Given the description of an element on the screen output the (x, y) to click on. 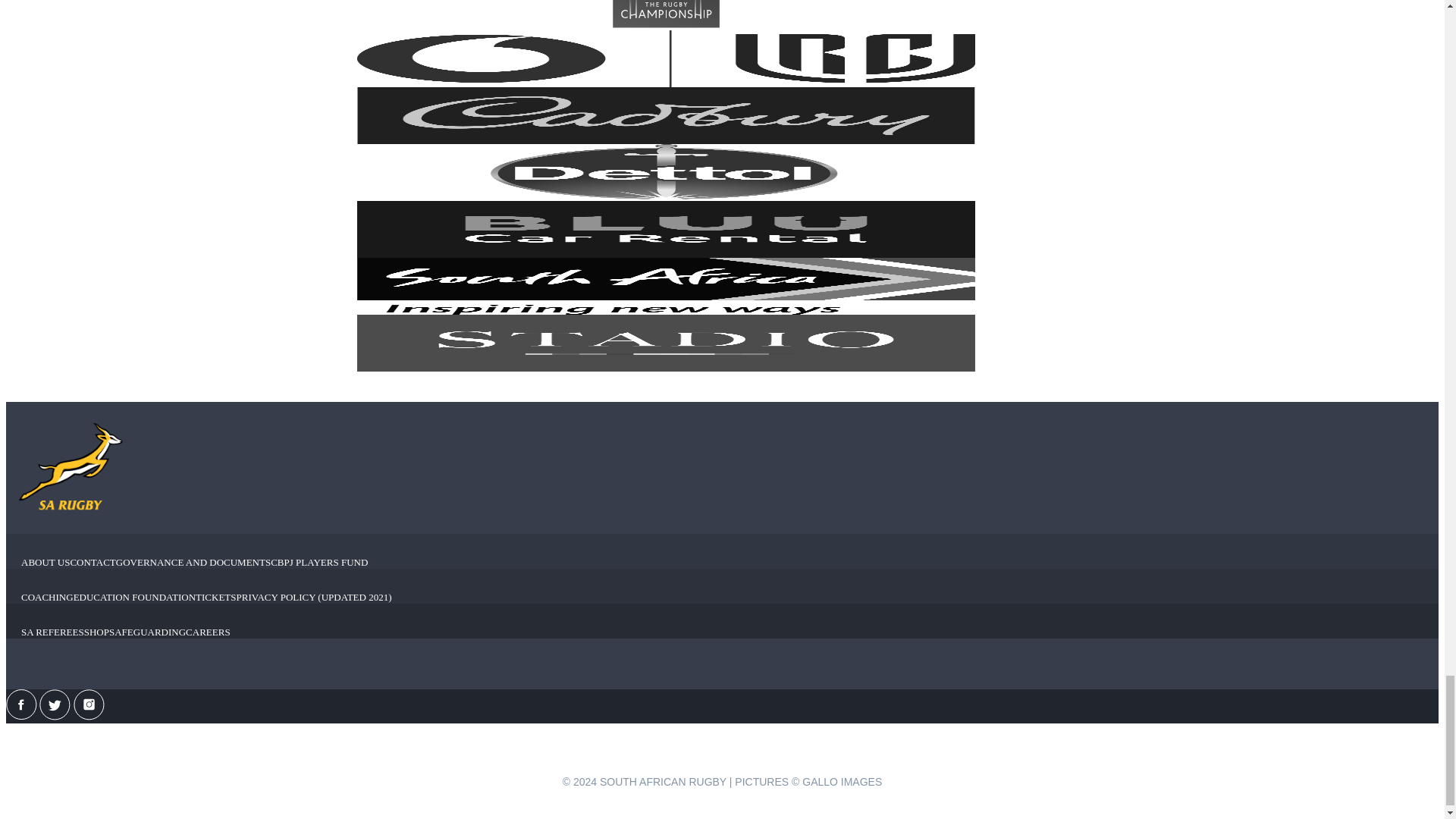
Subscribe (722, 767)
